Given the description of an element on the screen output the (x, y) to click on. 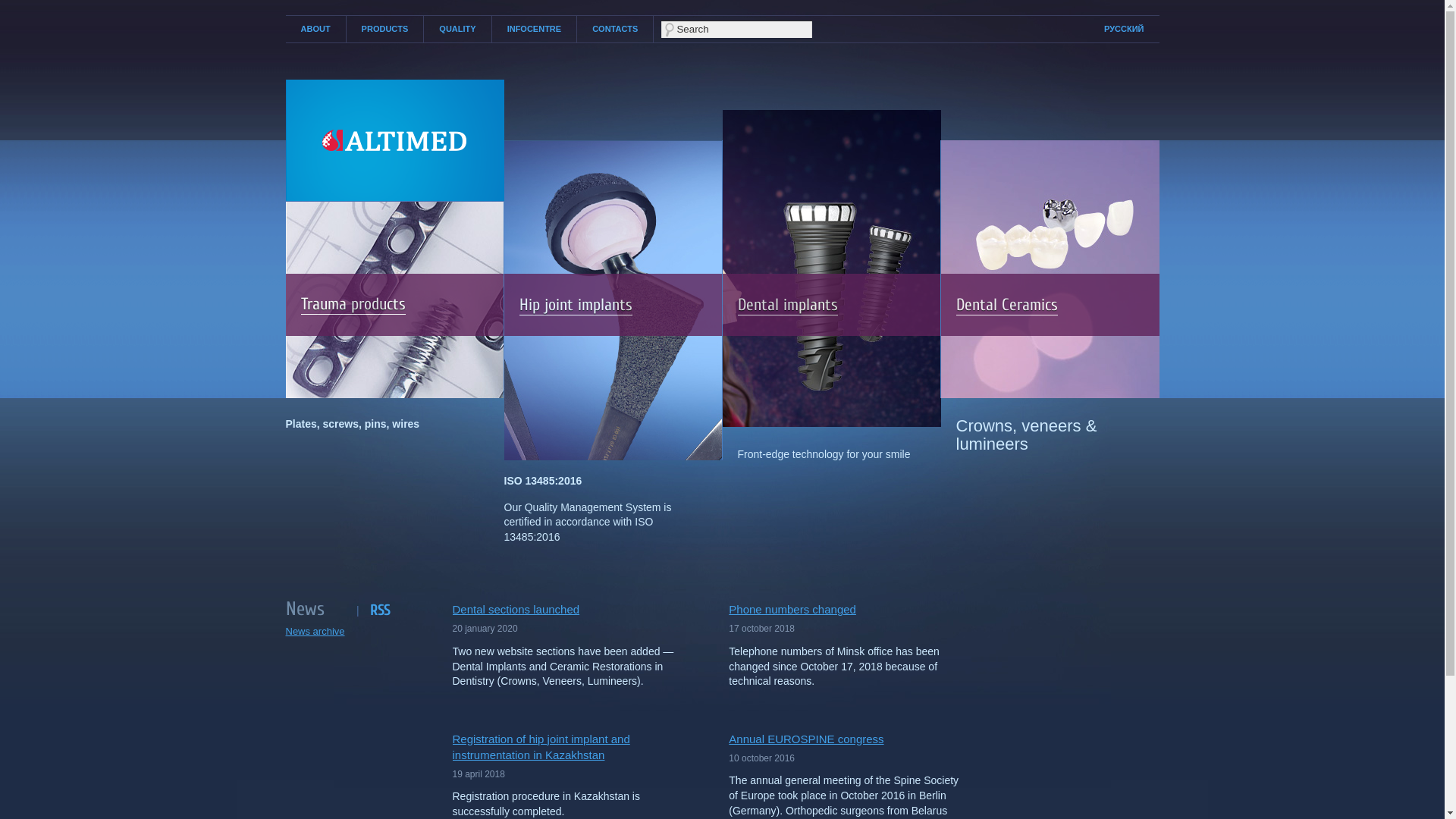
Annual EUROSPINE congress Element type: text (847, 738)
Dental implants Element type: text (787, 304)
INFOCENTRE Element type: text (534, 28)
Phone numbers changed Element type: text (847, 609)
Find Element type: text (14, 6)
News archive Element type: text (314, 631)
QUALITY Element type: text (456, 28)
Search Element type: hover (736, 28)
CONTACTS Element type: text (614, 28)
ABOUT Element type: text (315, 28)
Dental sections launched Element type: text (570, 609)
RSS Element type: text (379, 610)
Hip joint implants Element type: text (574, 304)
PRODUCTS Element type: text (384, 28)
News Element type: text (320, 611)
Trauma products Element type: text (352, 304)
Dental Ceramics Element type: text (1006, 304)
